Given the description of an element on the screen output the (x, y) to click on. 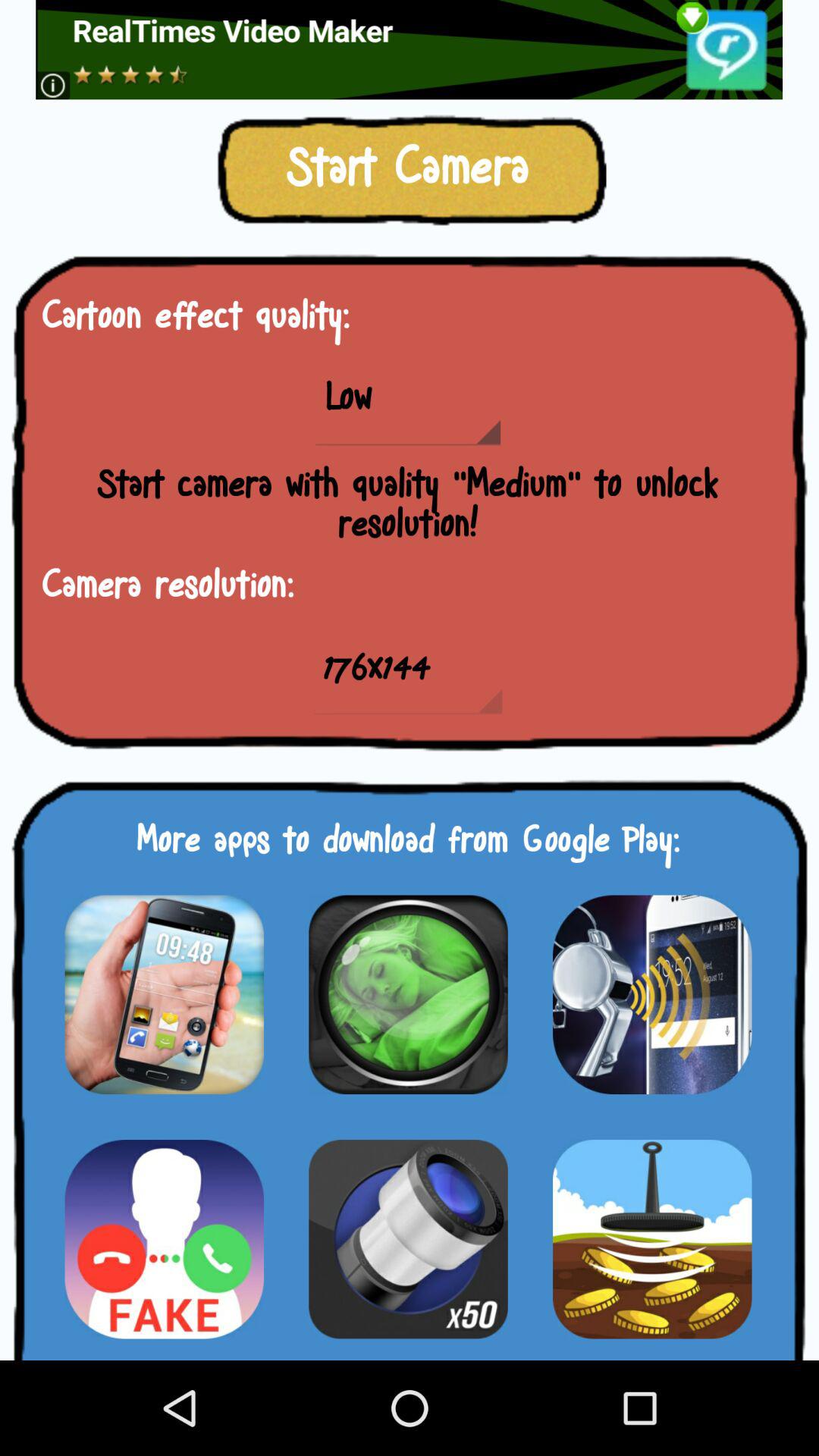
advertisement (408, 49)
